Given the description of an element on the screen output the (x, y) to click on. 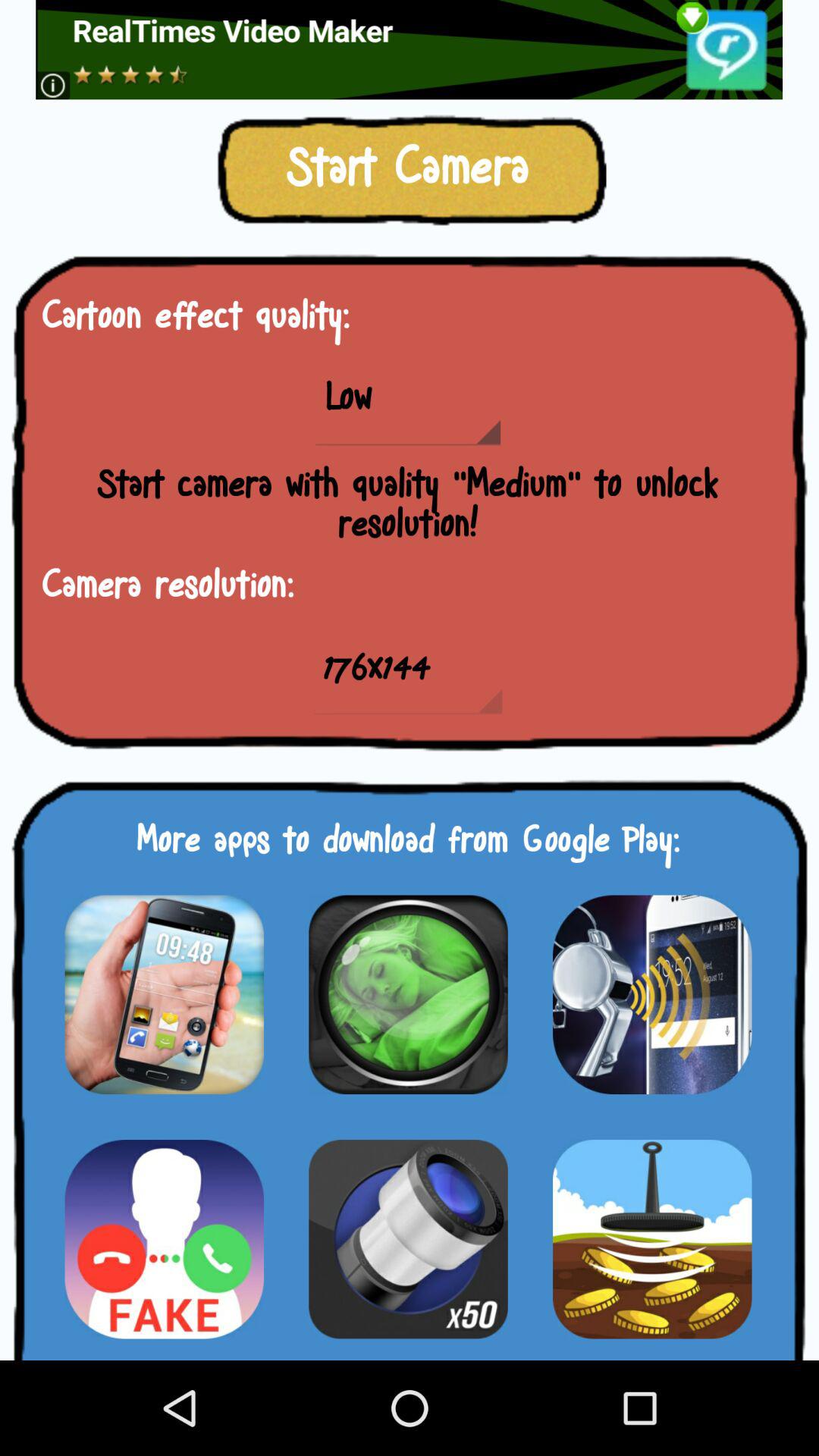
advertisement (408, 49)
